Given the description of an element on the screen output the (x, y) to click on. 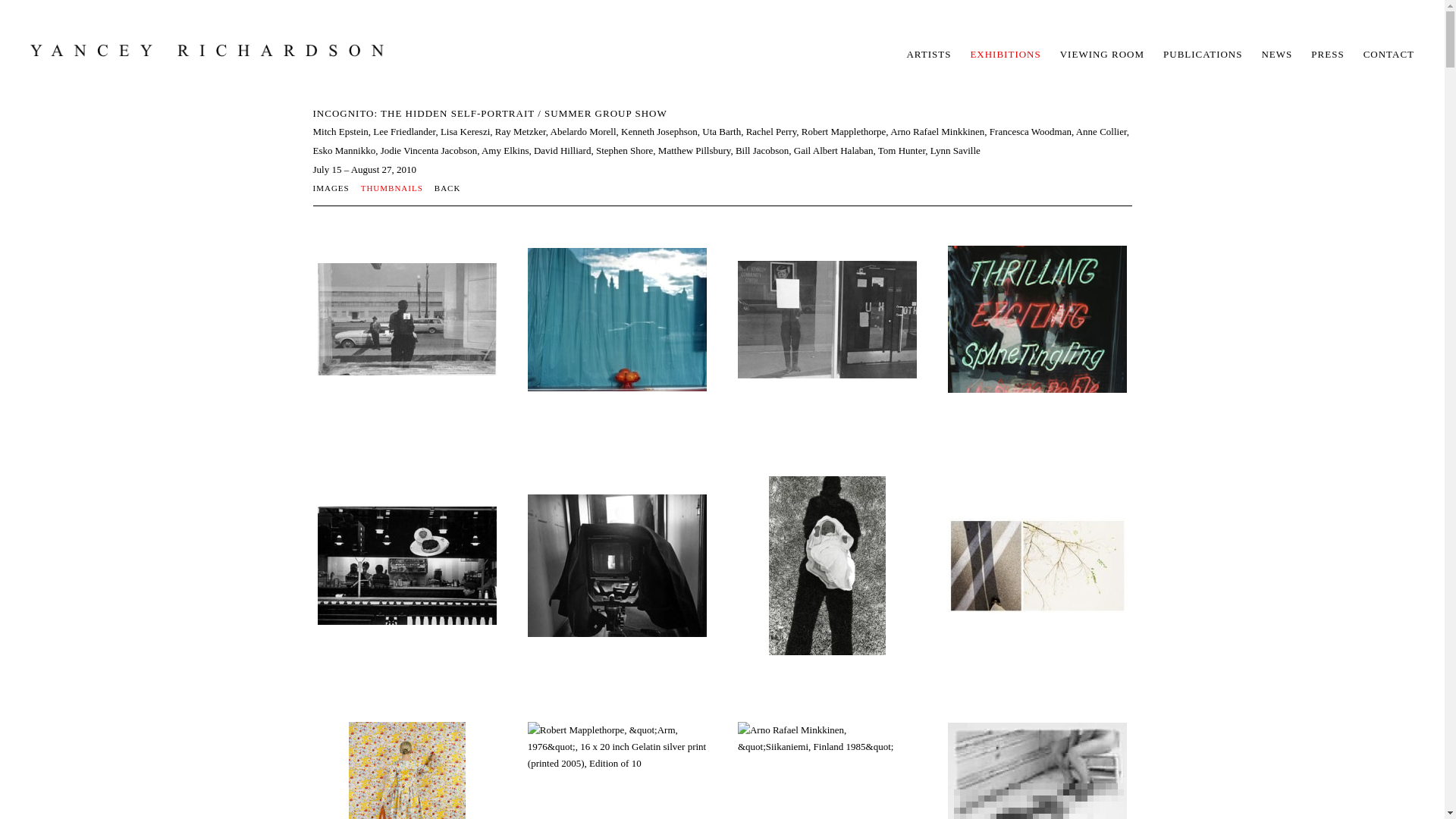
BACK (447, 187)
NEWS (1276, 53)
IMAGES (336, 187)
THUMBNAILS (397, 187)
PUBLICATIONS (1202, 53)
ARTISTS (927, 53)
EXHIBITIONS (1005, 53)
VIEWING ROOM (1101, 53)
CONTACT (1387, 53)
PRESS (1327, 53)
